Given the description of an element on the screen output the (x, y) to click on. 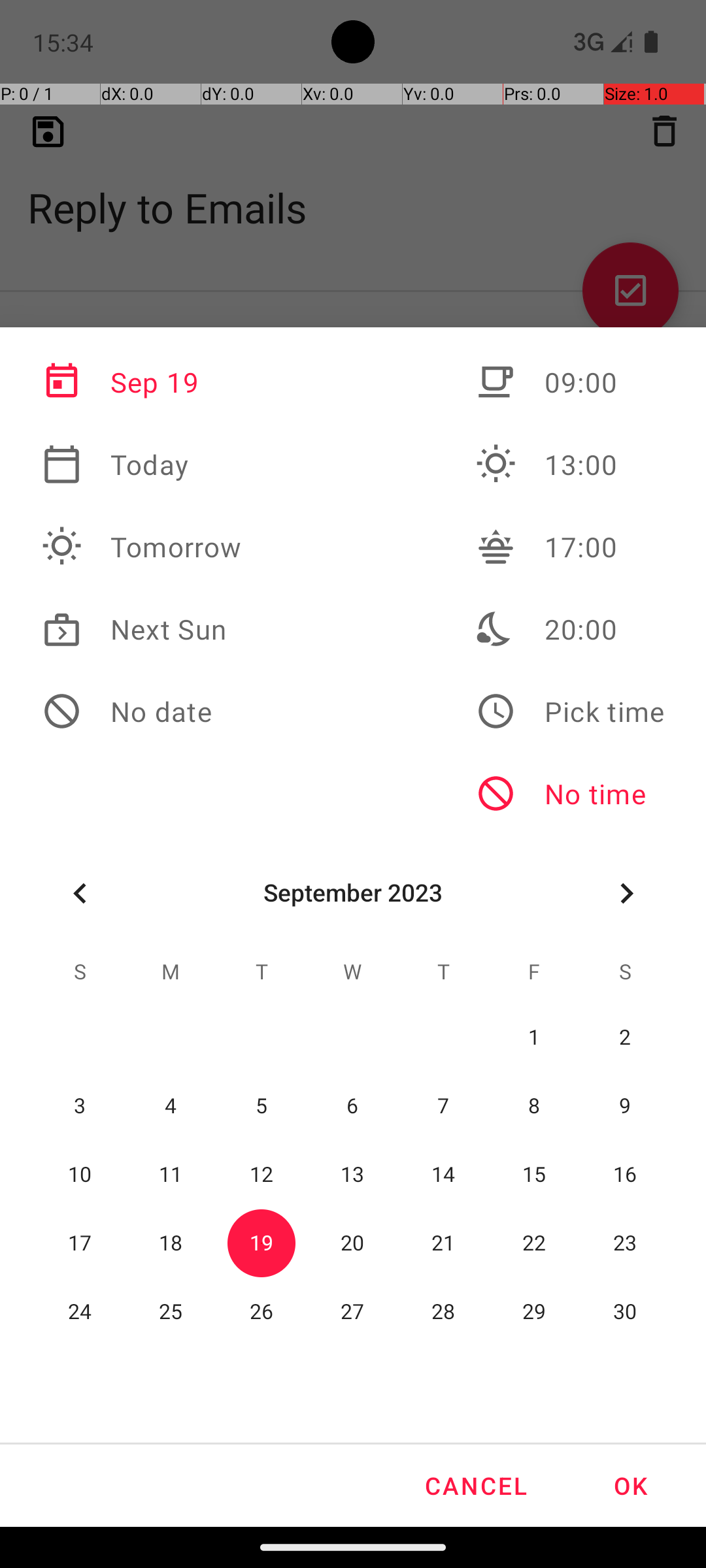
Sep 19 Element type: android.widget.CompoundButton (141, 382)
